Given the description of an element on the screen output the (x, y) to click on. 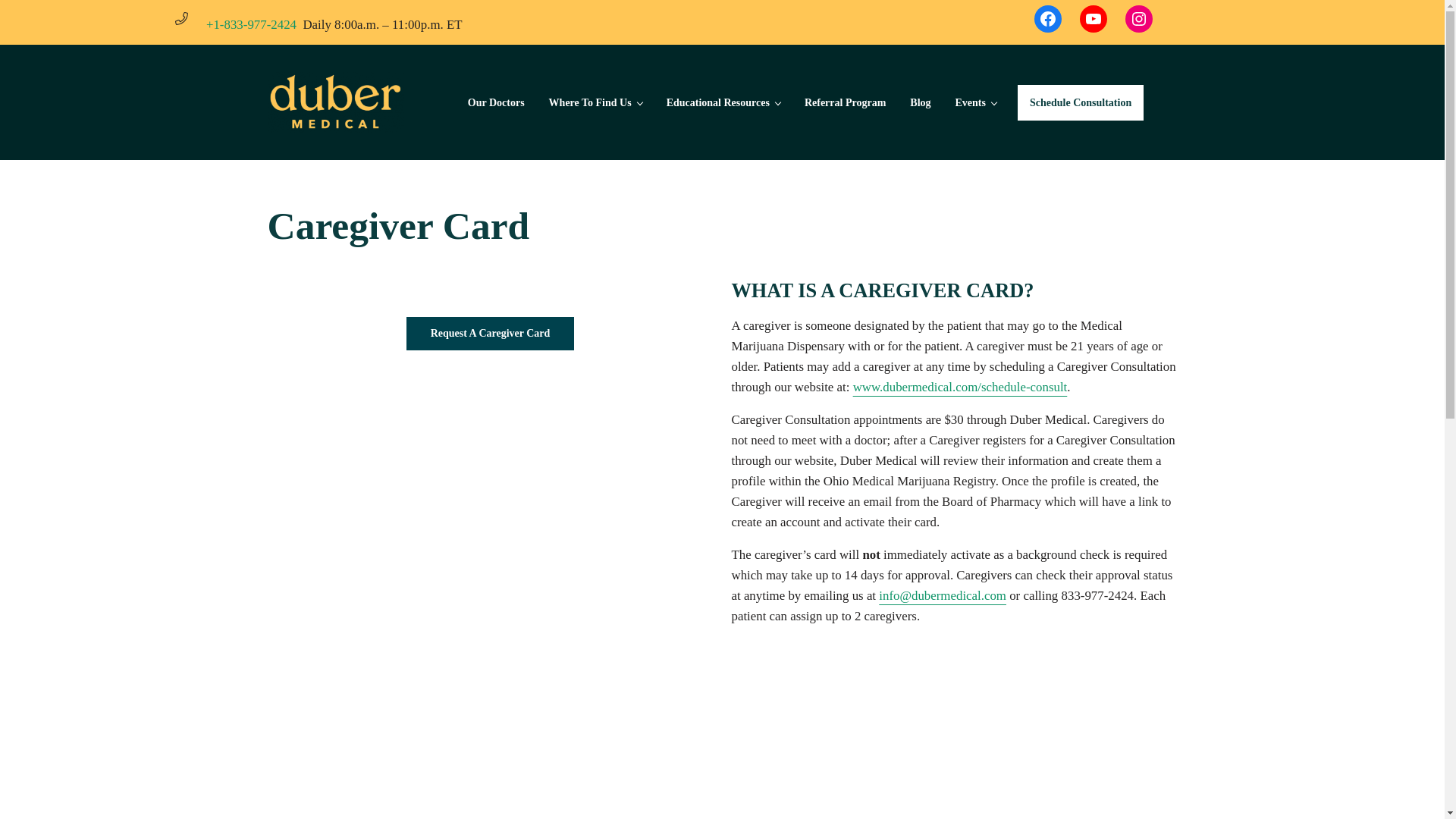
Facebook (1047, 18)
Educational Resources (722, 102)
YouTube (1093, 18)
Our Doctors (496, 102)
Referral Program (845, 102)
Where To Find Us (595, 102)
Instagram (1139, 18)
